Given the description of an element on the screen output the (x, y) to click on. 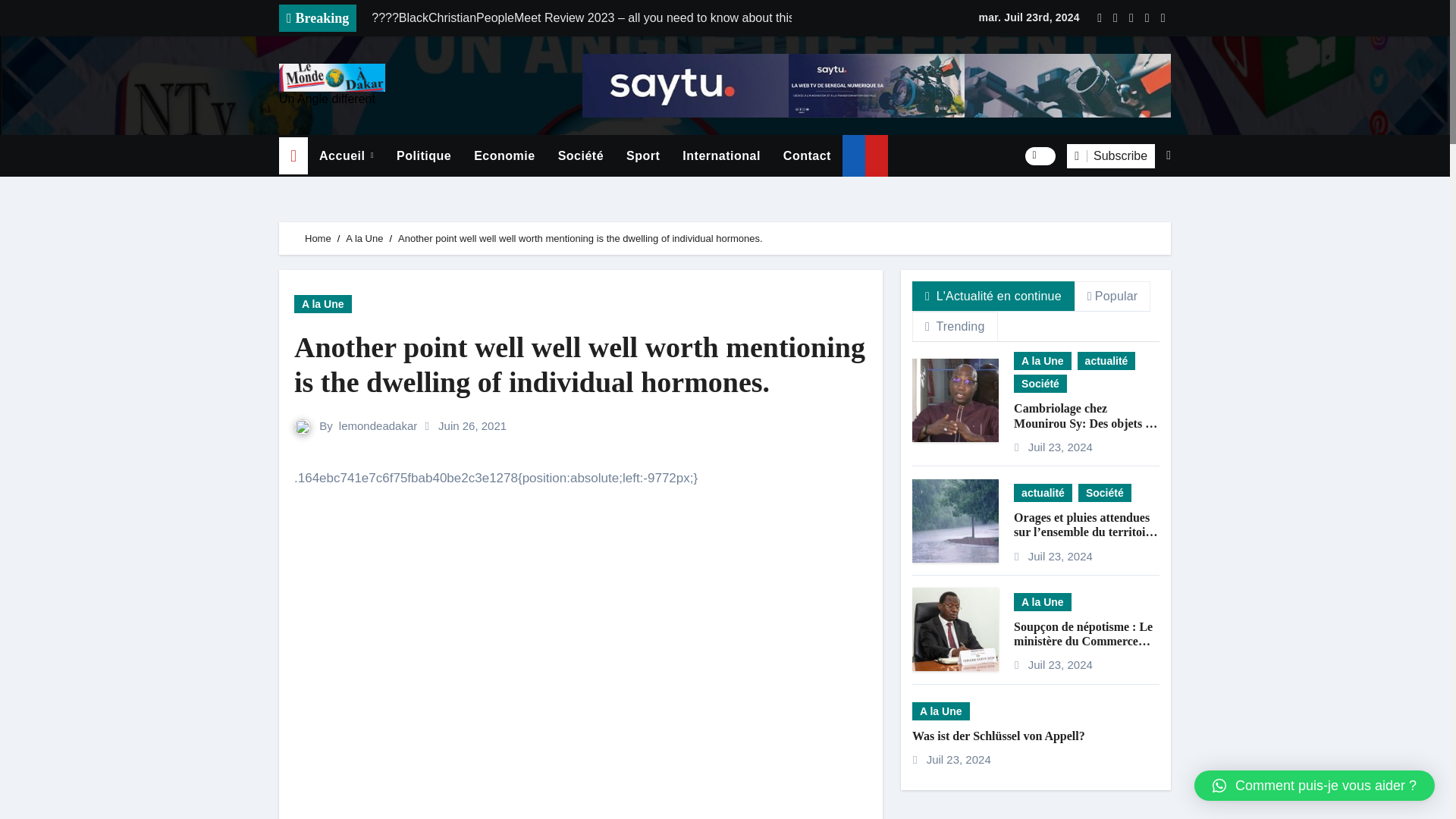
Politique (424, 155)
Advertisement (583, 766)
International (721, 155)
Accueil (346, 155)
Contact (807, 155)
Advertisement (583, 608)
Economie (504, 155)
Sport (642, 155)
